Given the description of an element on the screen output the (x, y) to click on. 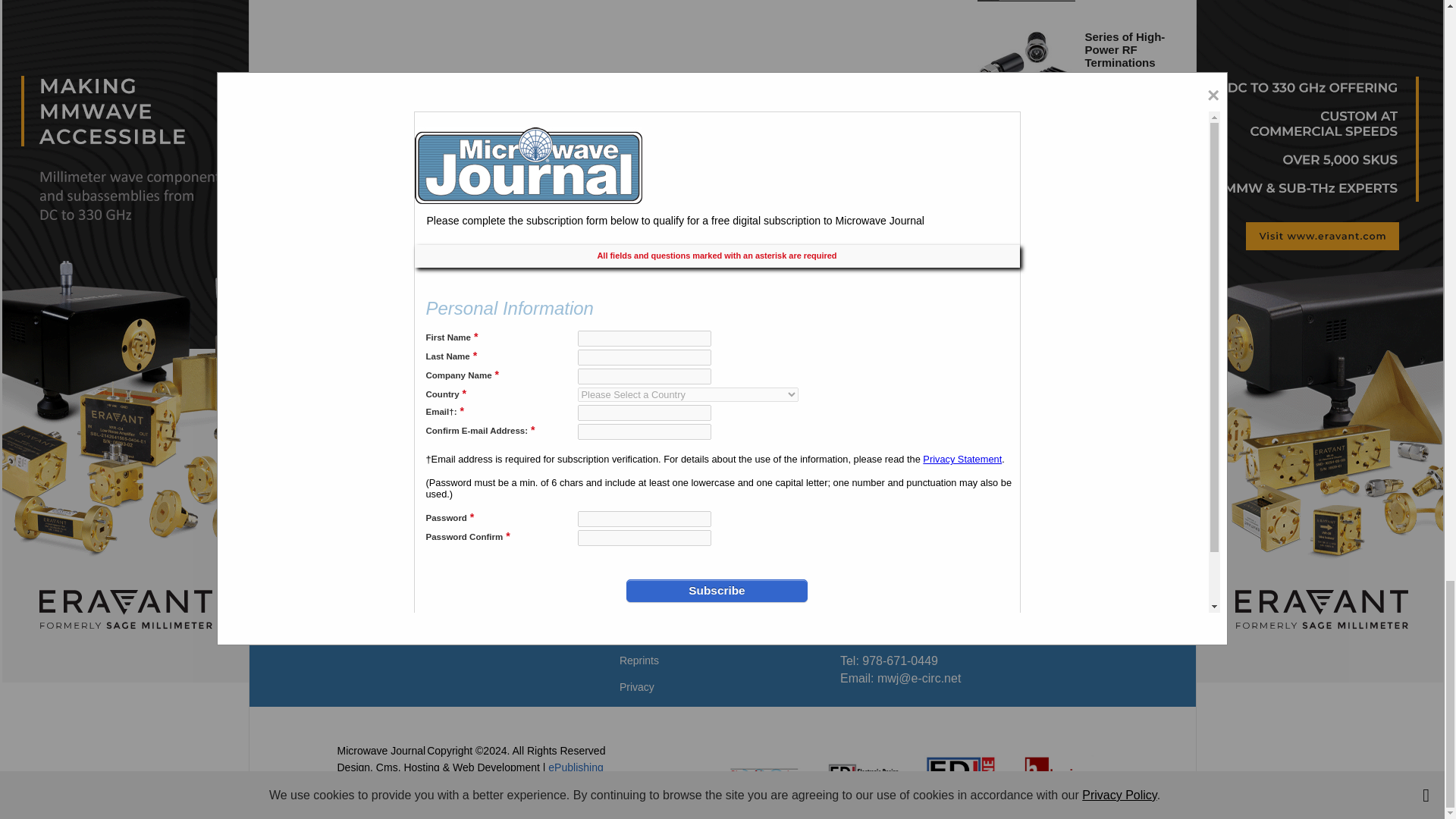
LB5967L-WBG.jpg (1025, 247)
NOFFZ HDS-HSD 1008 front.jpg (1025, 167)
3rd party ad content (721, 395)
pasternack-7-11-24wjt.jpg (1025, 76)
